Given the description of an element on the screen output the (x, y) to click on. 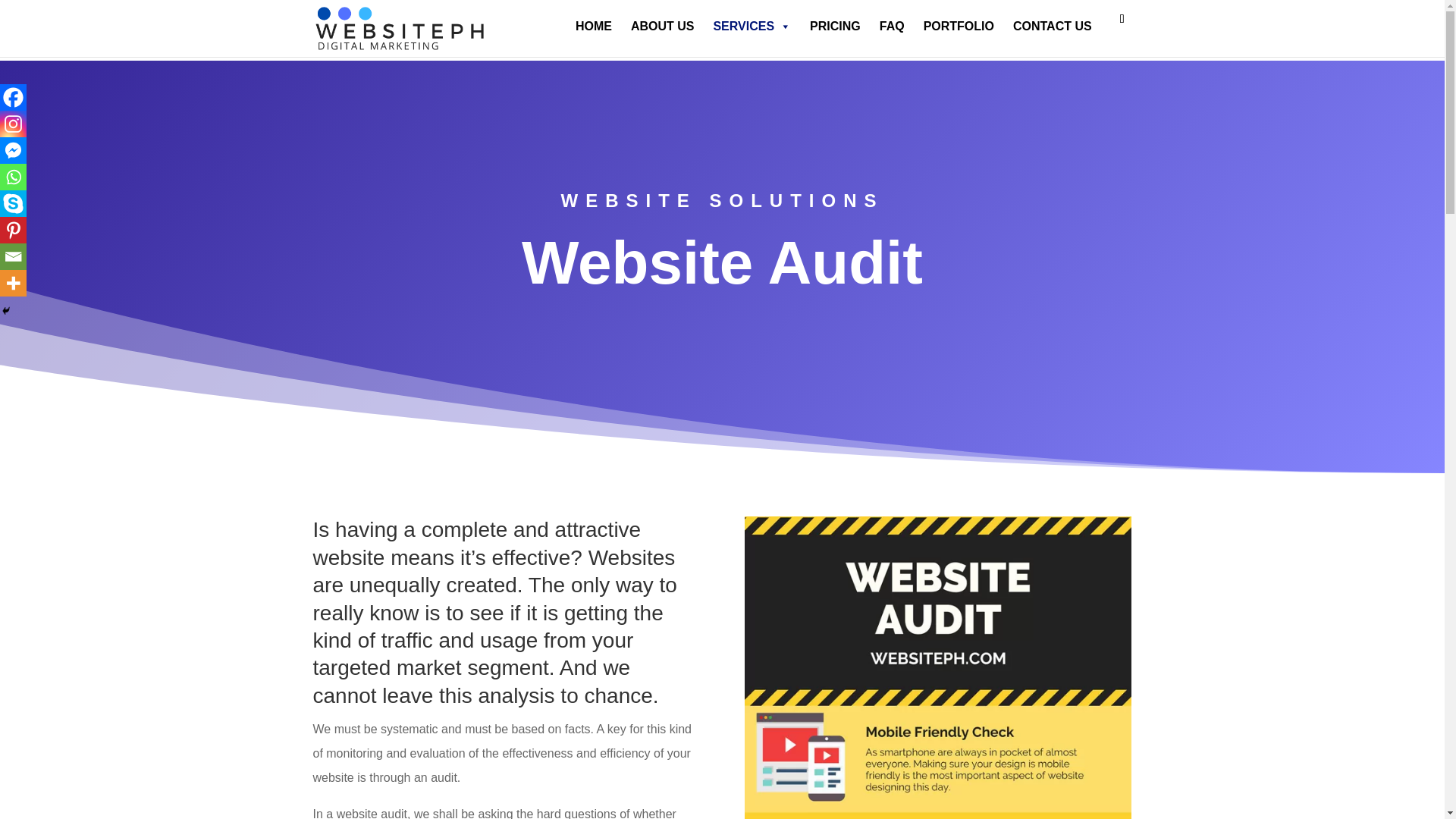
HOME (595, 26)
Hide (5, 310)
Website-audit (937, 667)
PRICING (837, 26)
FAQ (893, 26)
PORTFOLIO (960, 26)
ABOUT US (664, 26)
Skype (13, 203)
Email (13, 256)
More (13, 283)
